Given the description of an element on the screen output the (x, y) to click on. 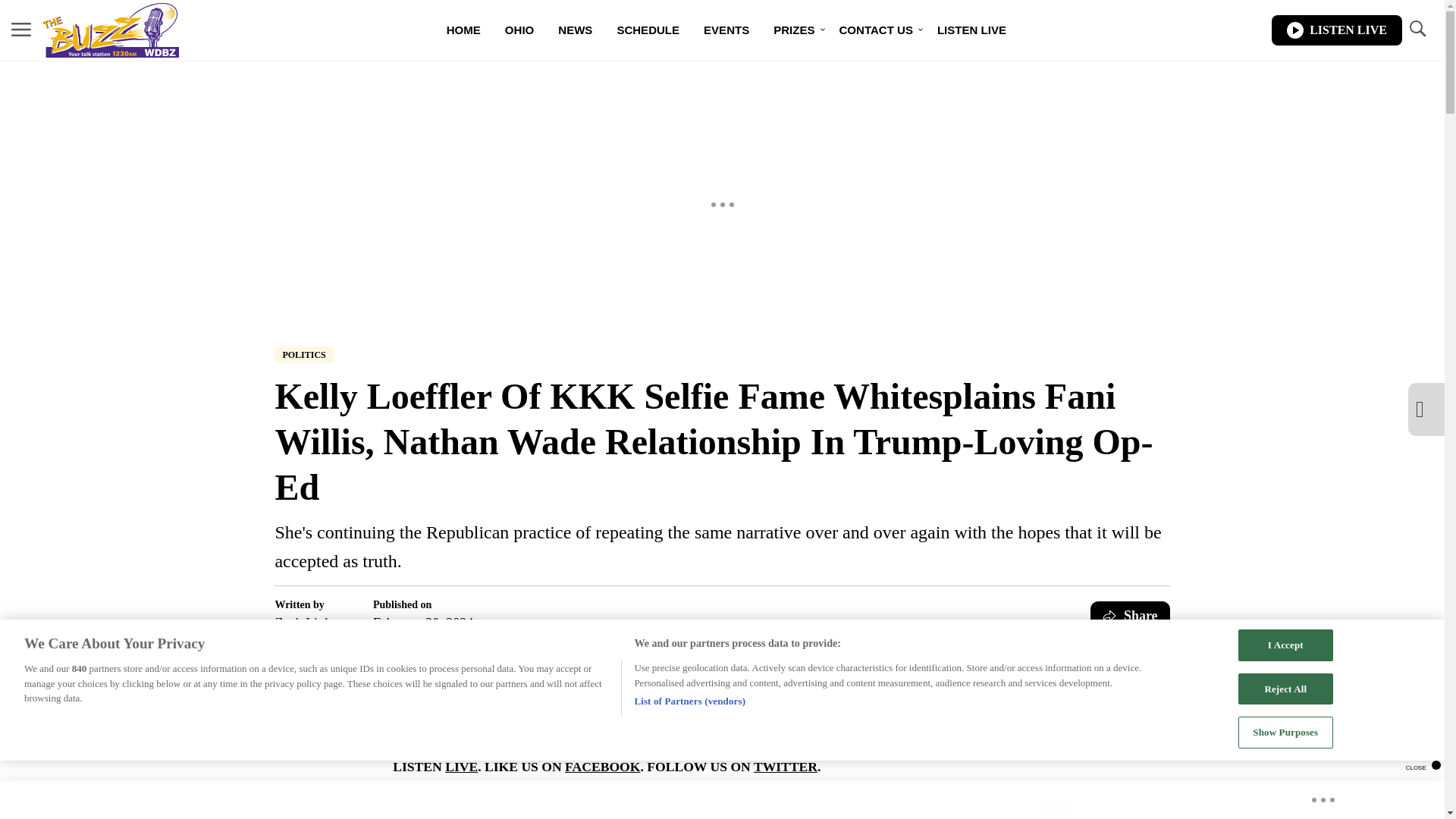
Share (1130, 615)
MENU (20, 29)
CONTACT US (875, 30)
PRIZES (794, 30)
SCHEDULE (647, 30)
LISTEN LIVE (1336, 30)
LISTEN LIVE (970, 30)
POLITICS (304, 354)
MENU (20, 30)
OHIO (519, 30)
EVENTS (726, 30)
TOGGLE SEARCH (1417, 30)
TWITTER (785, 766)
HOME (463, 30)
FACEBOOK (602, 766)
